Given the description of an element on the screen output the (x, y) to click on. 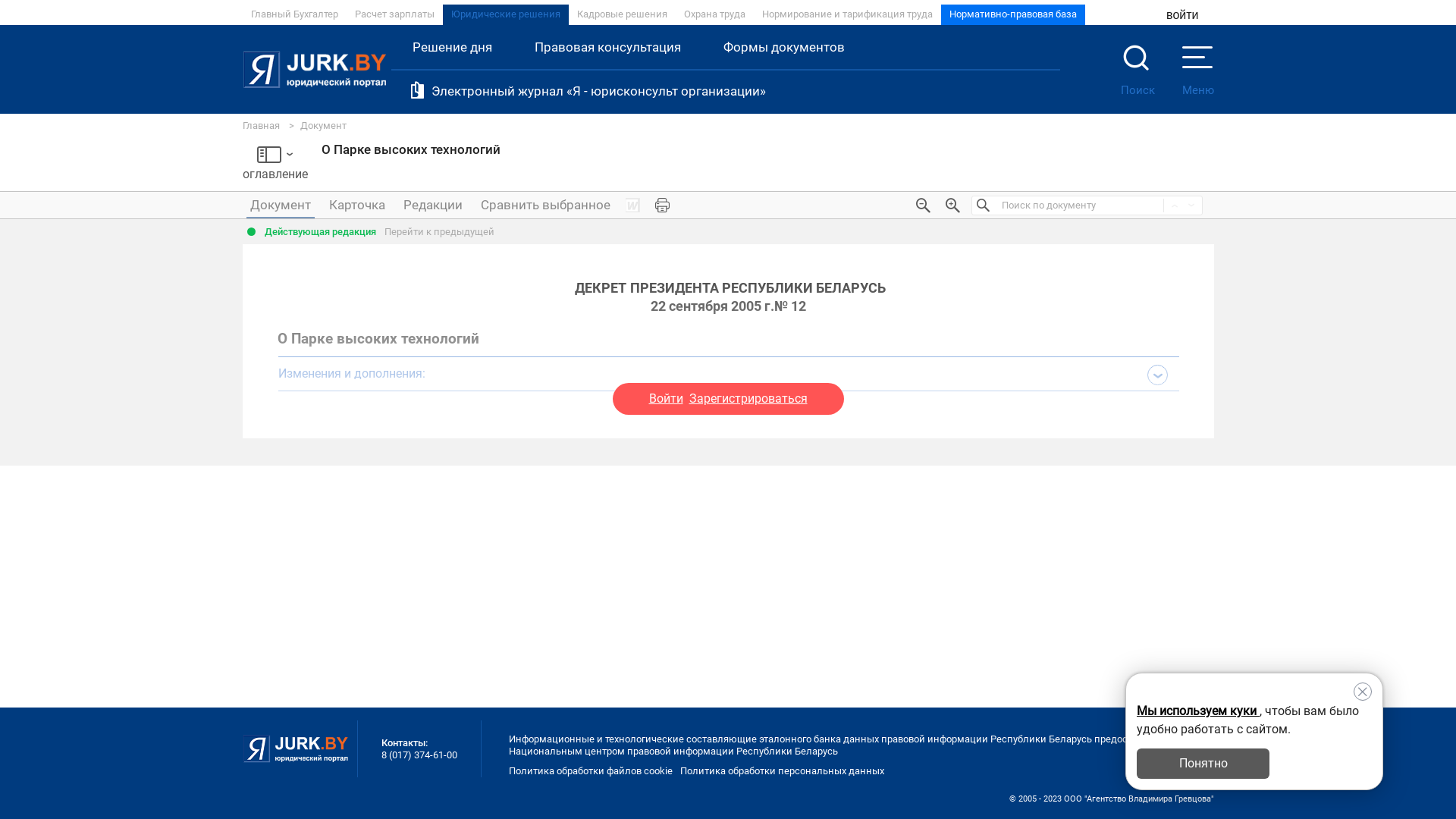
8 (017) 374-61-00 Element type: text (418, 755)
